Given the description of an element on the screen output the (x, y) to click on. 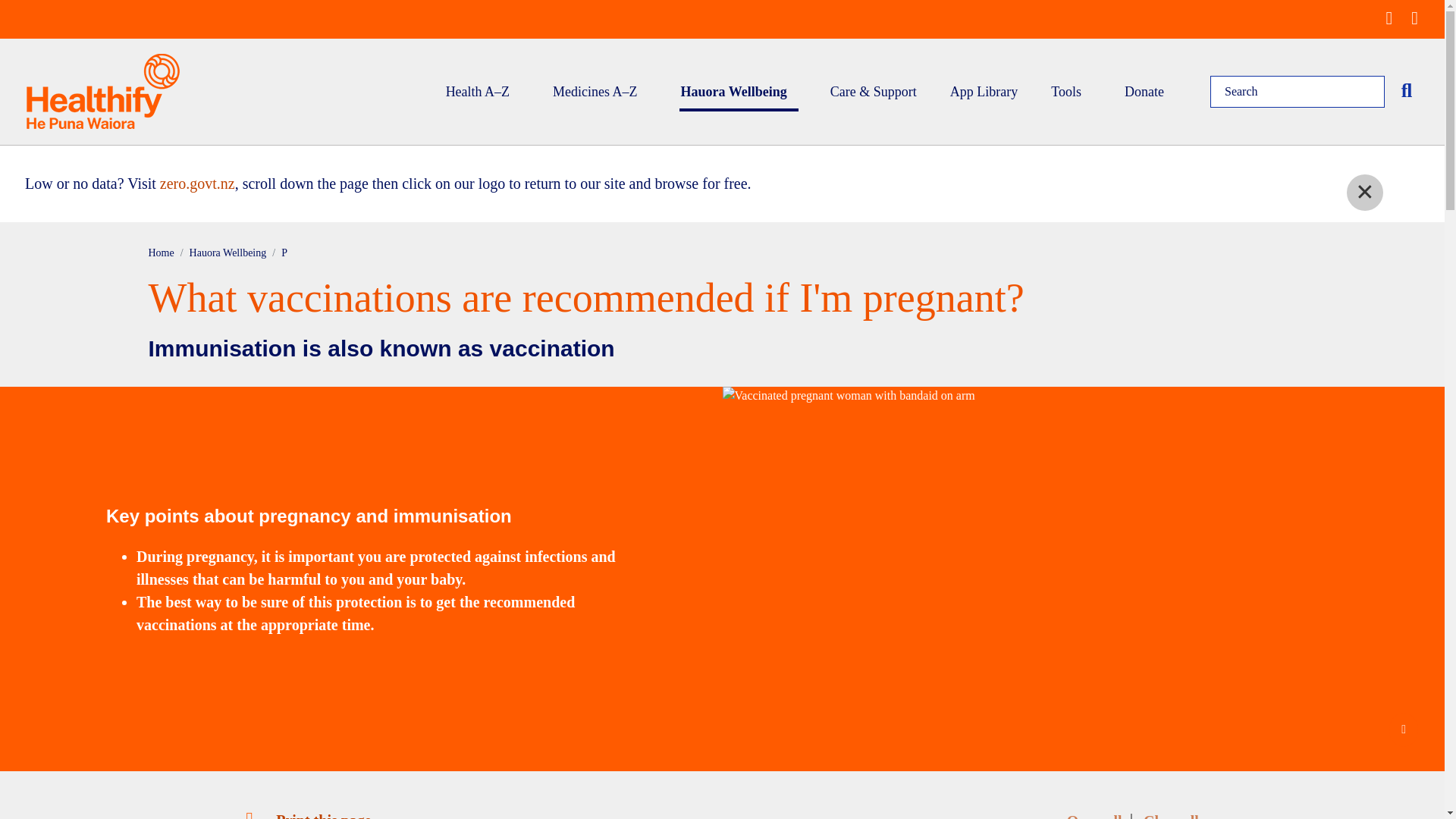
logo orange v2 (102, 91)
Search this website (1406, 91)
